Given the description of an element on the screen output the (x, y) to click on. 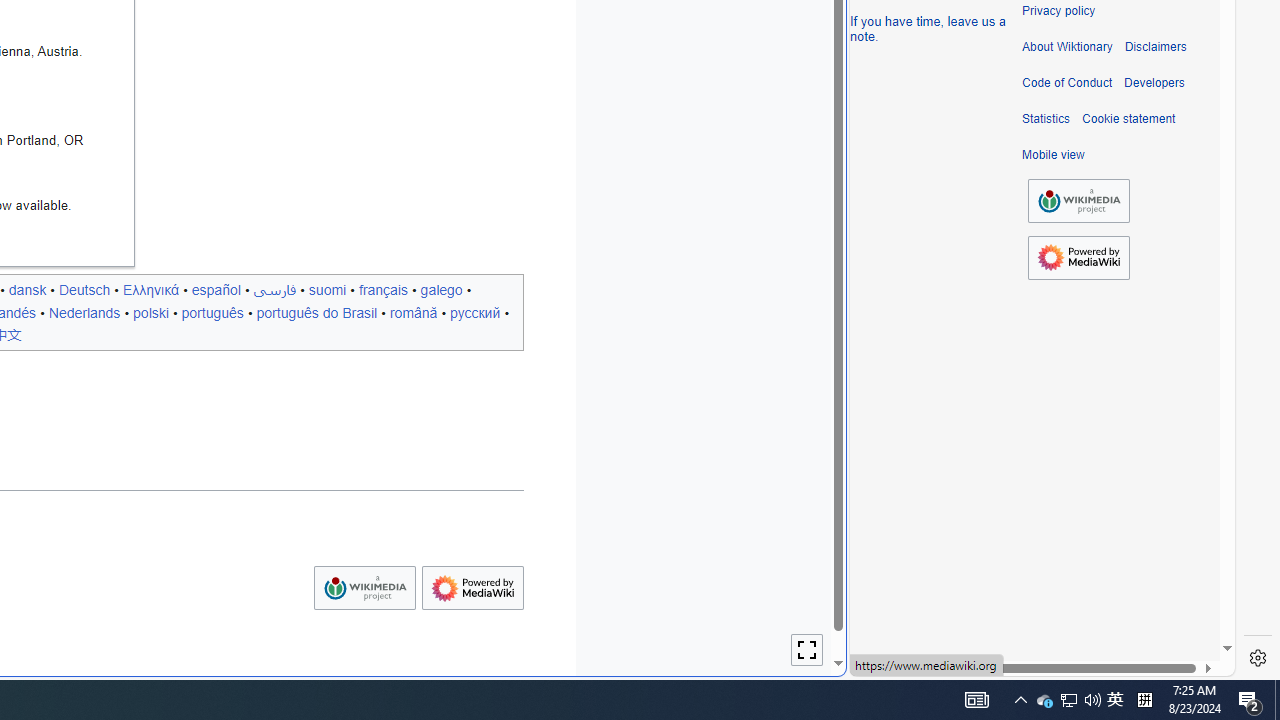
Cookie statement (1128, 119)
Statistics (1046, 119)
Deutsch (84, 289)
Nederlands (84, 312)
galego (441, 289)
Developers (1154, 83)
suomi (327, 289)
Disclaimers (1154, 47)
Code of Conduct (1067, 83)
